Given the description of an element on the screen output the (x, y) to click on. 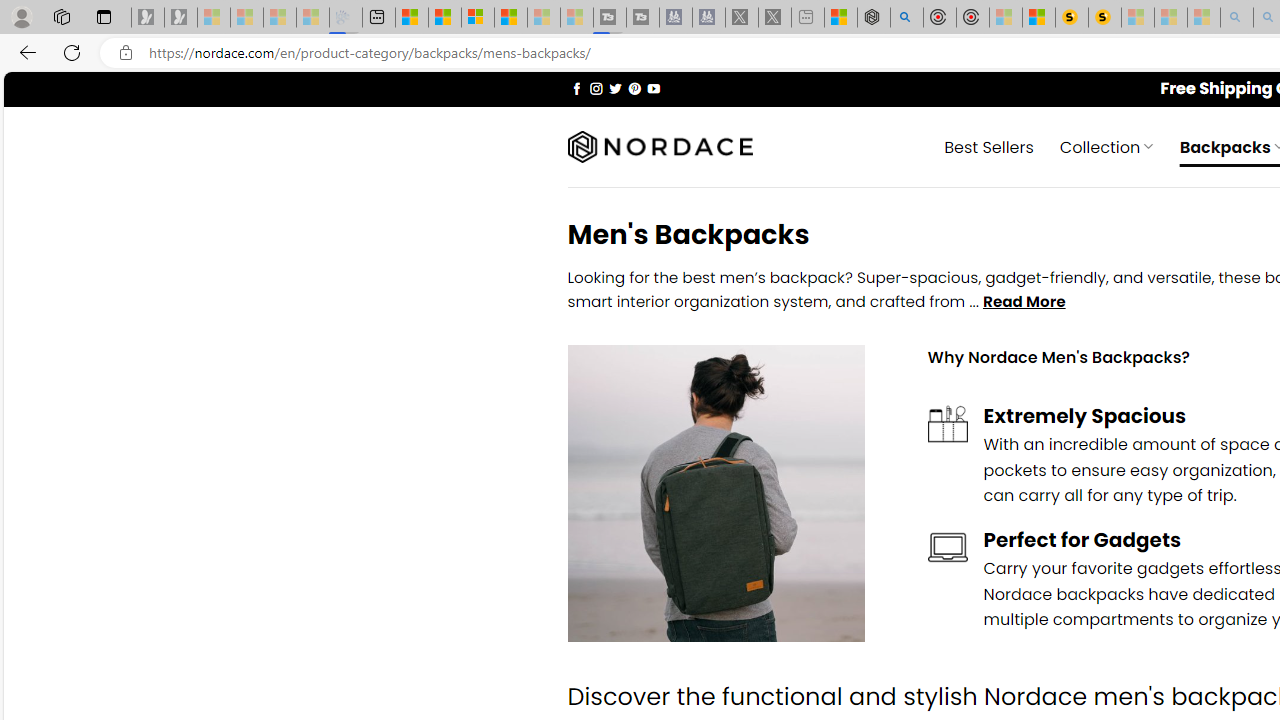
Wildlife - MSN (841, 17)
Follow on YouTube (653, 88)
New tab - Sleeping (808, 17)
Nordace (659, 147)
Newsletter Sign Up - Sleeping (181, 17)
poe - Search (906, 17)
Follow on Instagram (596, 88)
amazon - Search - Sleeping (1237, 17)
